Given the description of an element on the screen output the (x, y) to click on. 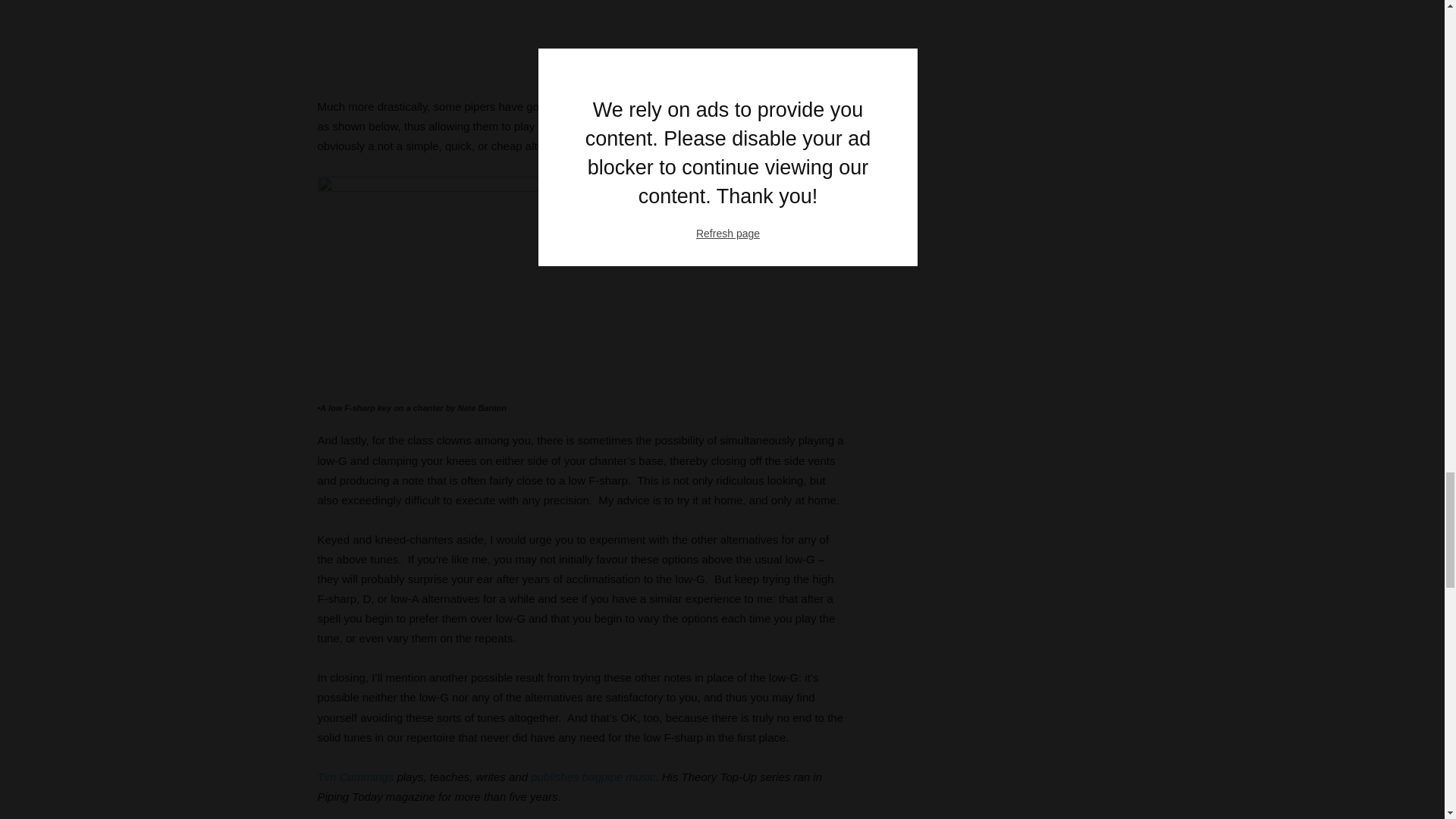
Tim Cummings (355, 776)
publishes bagpipe music (593, 776)
